Given the description of an element on the screen output the (x, y) to click on. 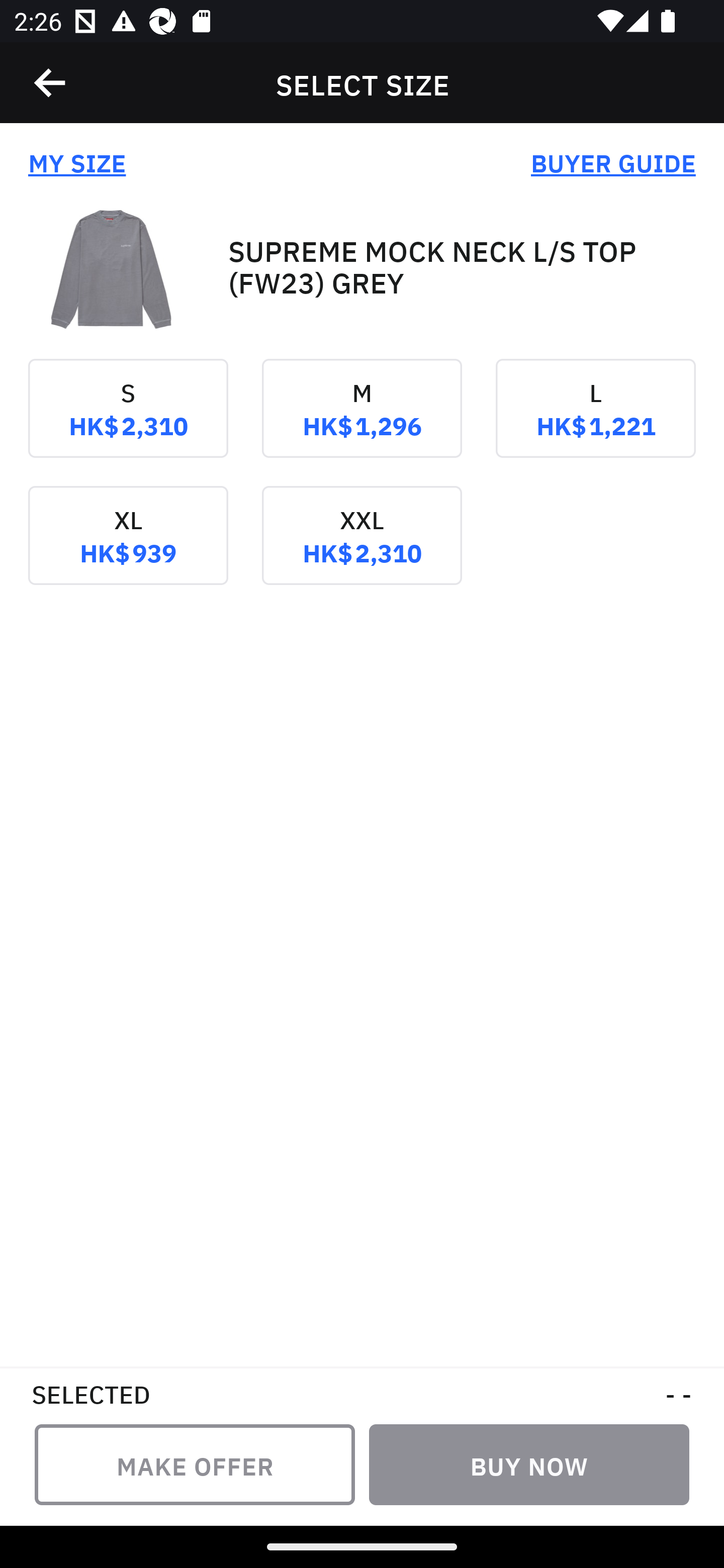
 (50, 83)
S HK$ 2,310 (128, 422)
M HK$ 1,296 (361, 422)
L HK$ 1,221 (595, 422)
XL HK$ 939 (128, 549)
XXL HK$ 2,310 (361, 549)
MAKE OFFER (194, 1464)
BUY NOW (529, 1464)
